Given the description of an element on the screen output the (x, y) to click on. 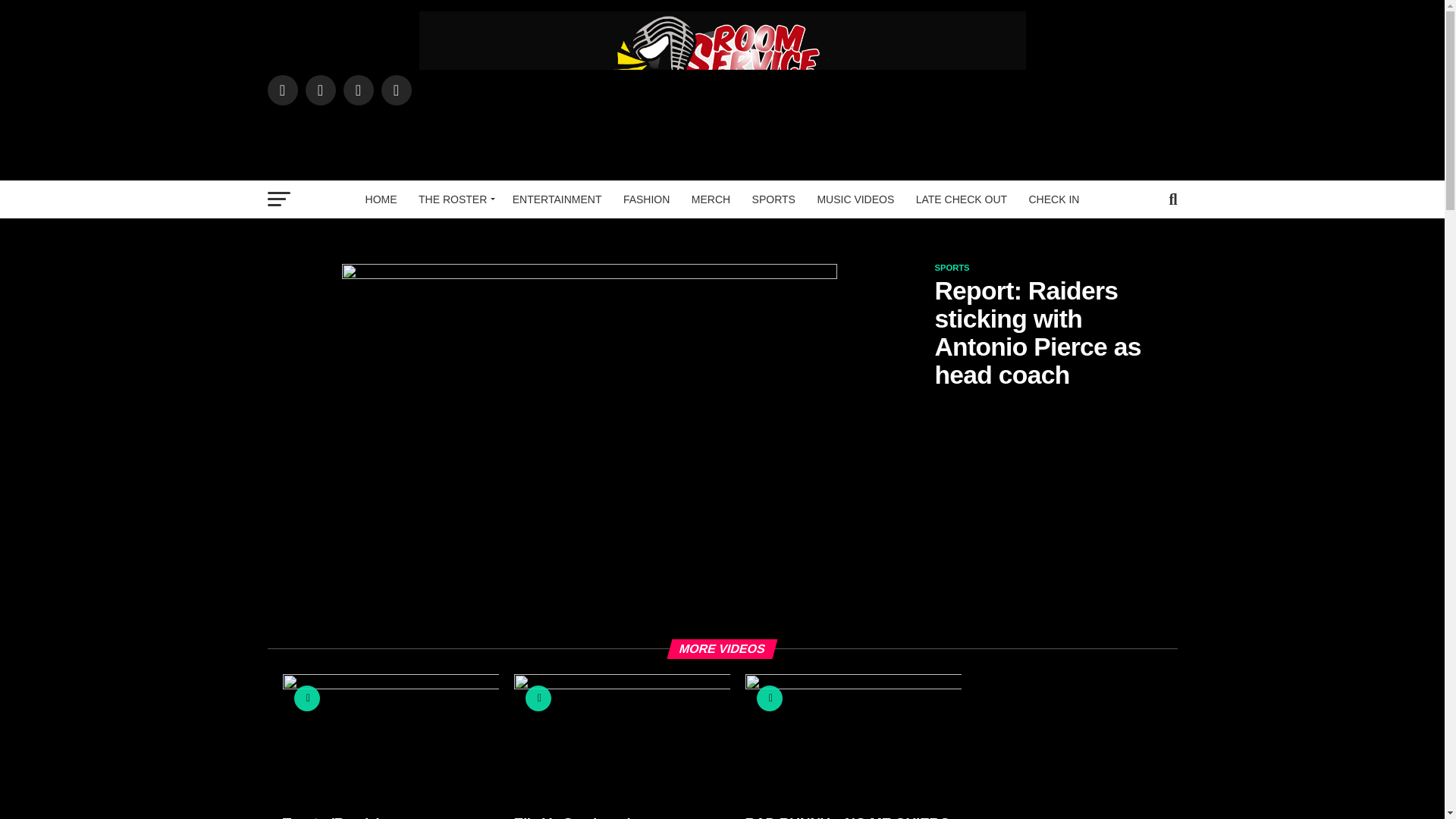
ENTERTAINMENT (557, 199)
HOME (381, 199)
THE ROSTER (454, 199)
